Given the description of an element on the screen output the (x, y) to click on. 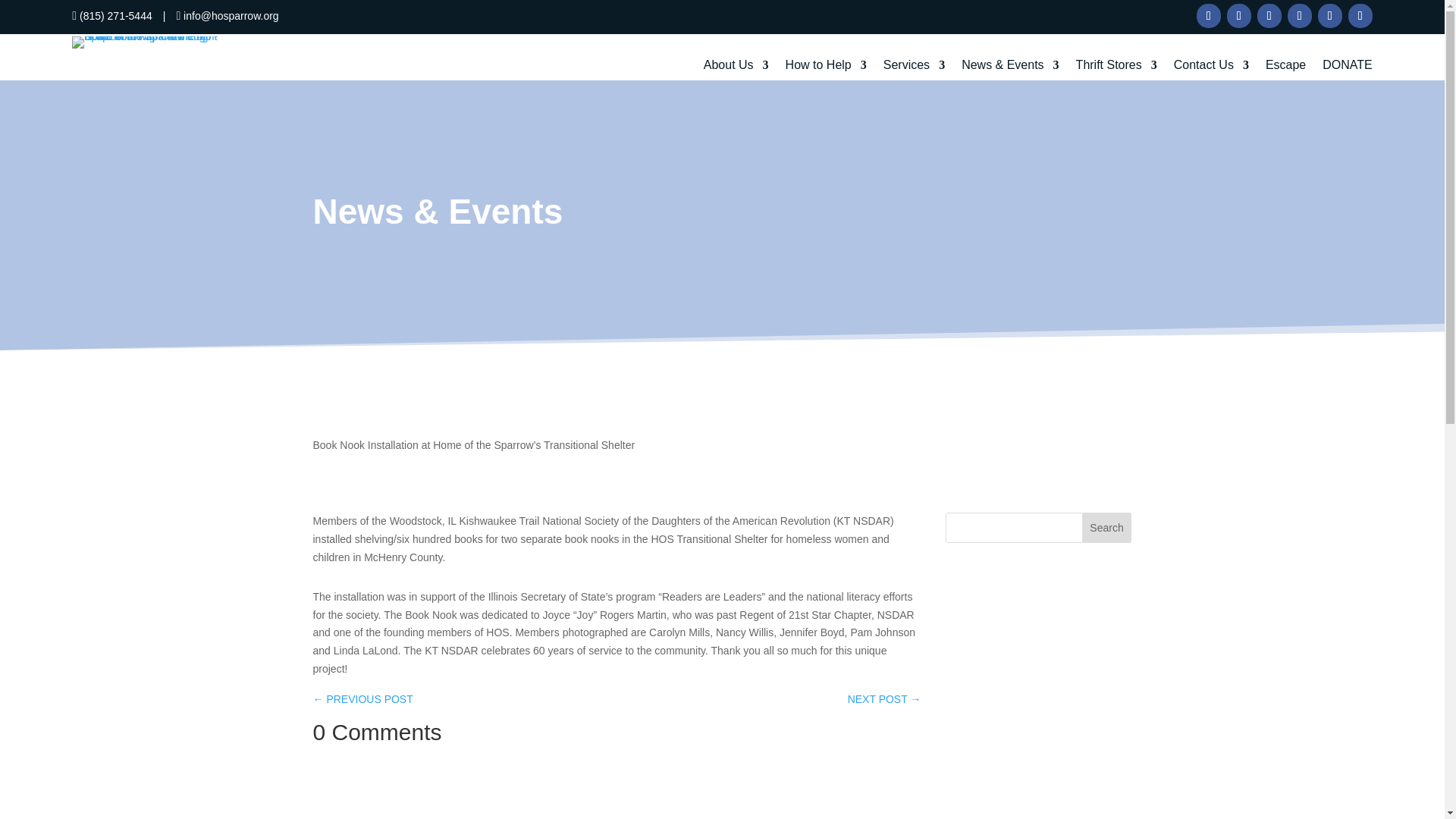
Search (1106, 527)
Follow on X (1299, 15)
Follow on Instagram (1238, 15)
Services (913, 67)
HOS Logo Blue (144, 42)
Follow on Youtube (1329, 15)
Follow on TikTok (1360, 15)
How to Help (826, 67)
Follow on Facebook (1208, 15)
About Us (735, 67)
